Given the description of an element on the screen output the (x, y) to click on. 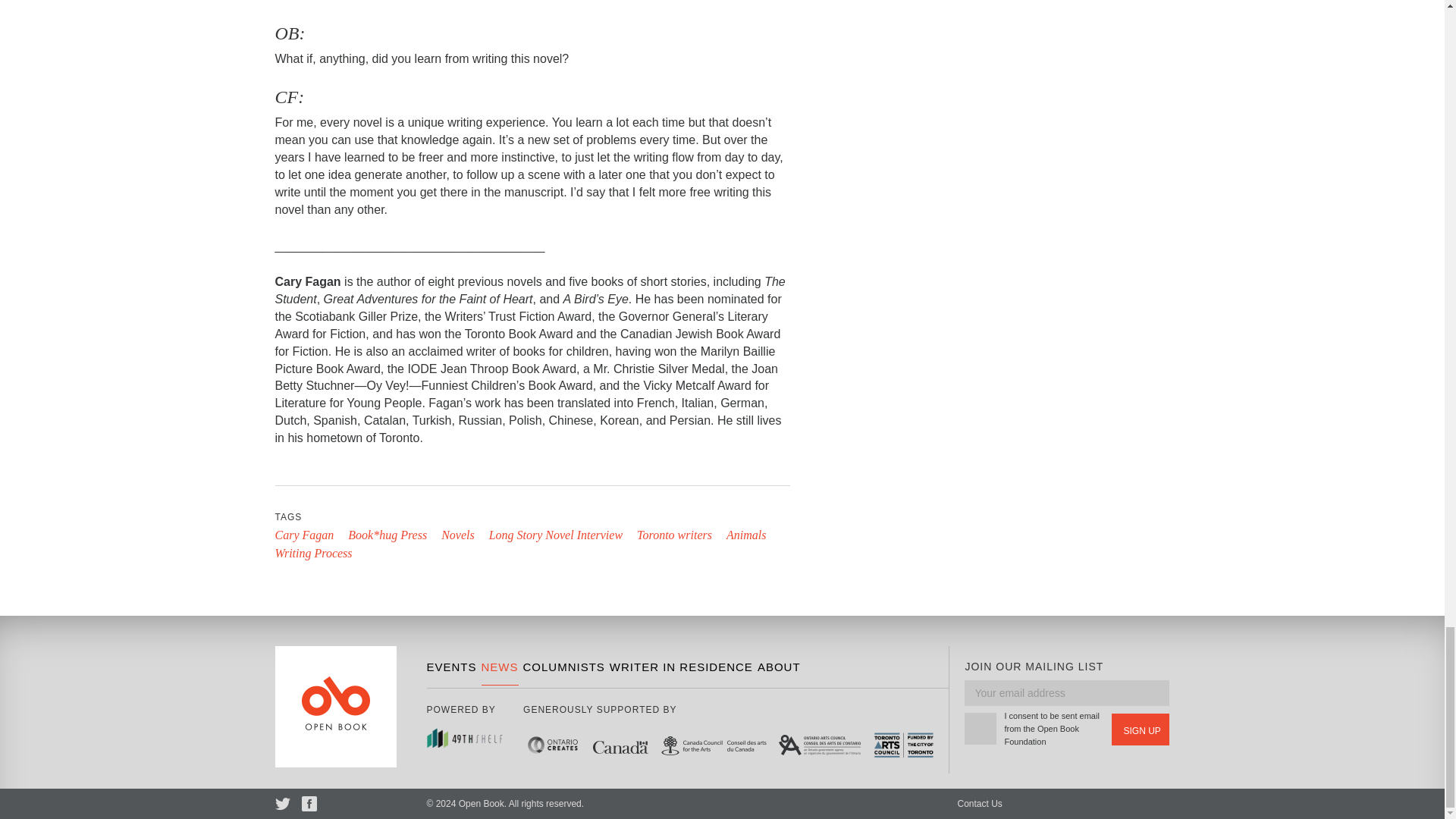
Cary Fagan (304, 534)
Animals (745, 534)
Toronto writers (674, 534)
Writing Process (313, 553)
Novels (457, 534)
Long Story Novel Interview (556, 534)
